Given the description of an element on the screen output the (x, y) to click on. 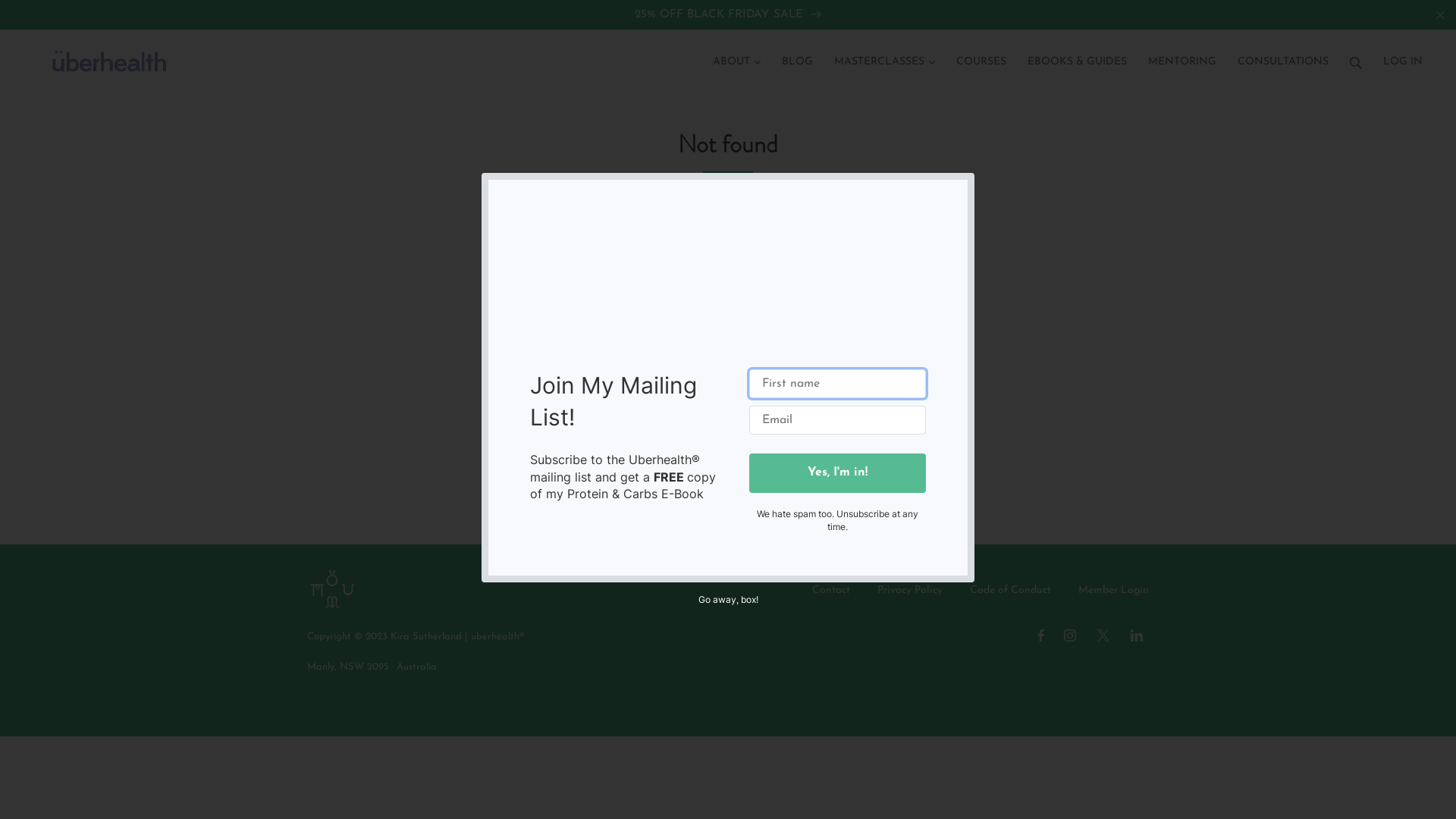
Instagram Element type: hover (1069, 635)
Privacy Policy Element type: text (909, 590)
BLOG Element type: text (797, 53)
ABOUT Element type: text (736, 53)
Facebook Element type: hover (1040, 635)
Contact Element type: text (831, 590)
COURSES Element type: text (980, 53)
LinkedIn Element type: hover (1136, 635)
CONSULTATIONS Element type: text (1282, 53)
EBOOKS & GUIDES Element type: text (1076, 53)
Yes, I'm in! Element type: text (837, 472)
Code of Conduct Element type: text (1010, 590)
Member Login Element type: text (1113, 590)
Go away, box! Element type: text (727, 599)
MENTORING Element type: text (1181, 53)
MASTERCLASSES Element type: text (884, 53)
X Element type: hover (1103, 635)
LOG IN Element type: text (1402, 53)
